Given the description of an element on the screen output the (x, y) to click on. 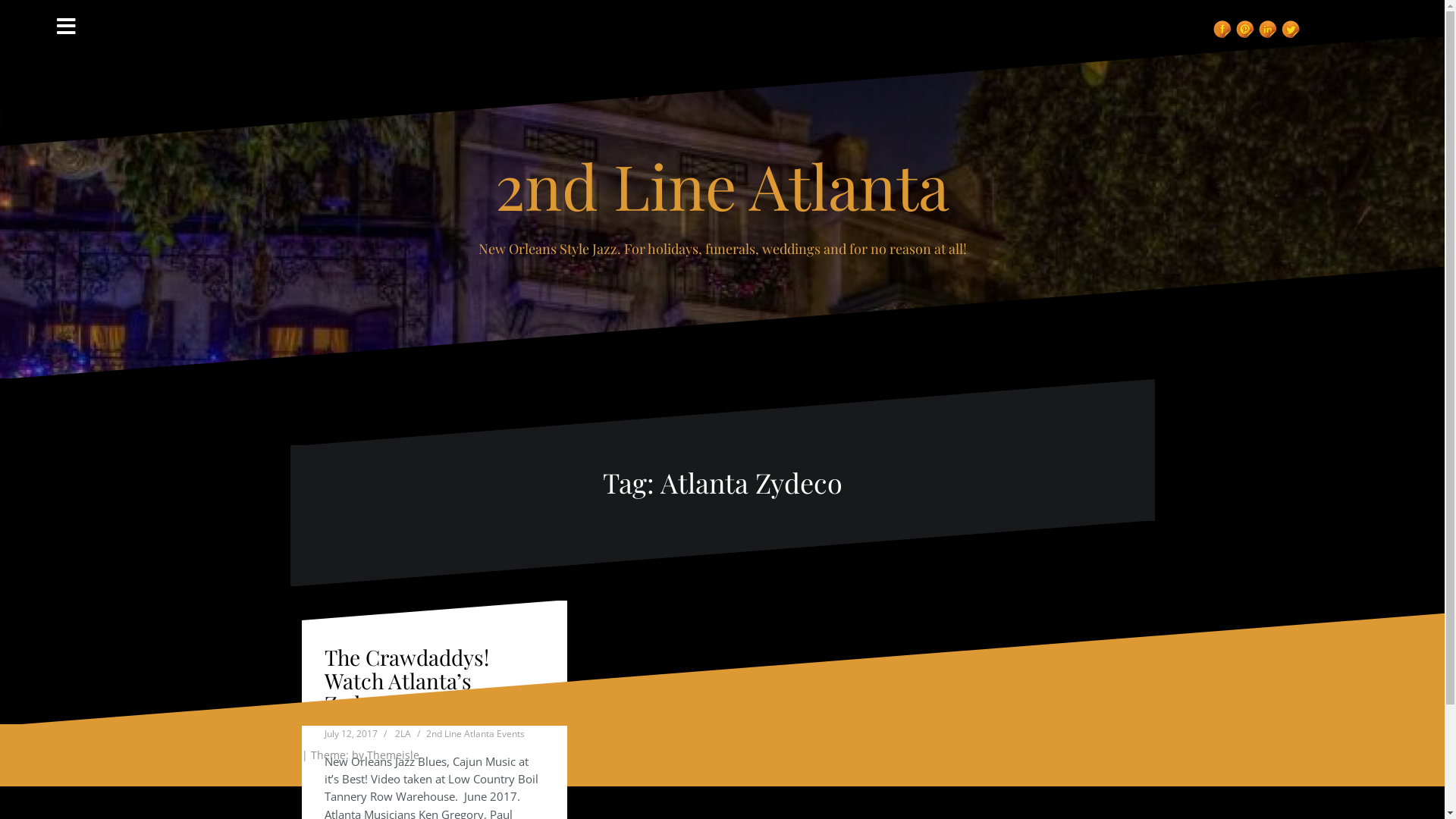
Band Posts Element type: text (1127, 14)
2nd Line Atlanta Venues Element type: text (1091, 14)
2LA Element type: text (402, 733)
Who Dat? Contact Us! Element type: text (1146, 14)
About 2nd Line Atlanta Element type: text (964, 14)
LinkedIn Element type: hover (1267, 29)
2nd Line Atlanta Element type: text (722, 184)
2nd Line Atlanta Events Element type: text (475, 733)
Twitter Element type: hover (1290, 29)
Bios Element type: text (1109, 14)
Pinterest Element type: hover (1245, 29)
New Orleans Song List Element type: text (1000, 14)
2nd Line Wedding Element type: text (1018, 14)
Funerals and Wakes Element type: text (1036, 14)
Second Line Night Festival Element type: text (1073, 14)
Mardi Gras & Parades Element type: text (1055, 14)
Videos Element type: text (982, 14)
Facebook Element type: hover (1222, 29)
July 12, 2017 Element type: text (350, 733)
